Given the description of an element on the screen output the (x, y) to click on. 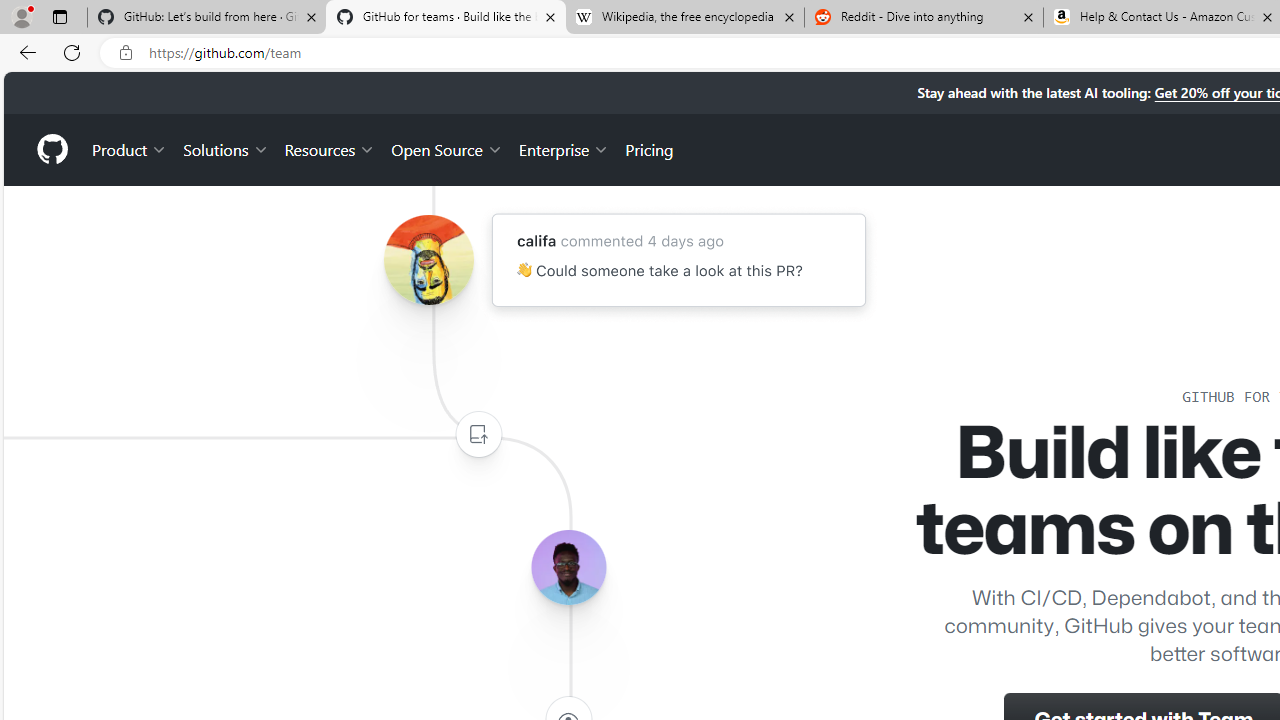
Resources (330, 148)
Avatar of the user lerebear (568, 567)
Product (130, 148)
Class: color-fg-muted width-full (478, 434)
Solutions (225, 148)
Enterprise (563, 148)
Enterprise (563, 148)
Pricing (649, 148)
Wikipedia, the free encyclopedia (684, 17)
